Given the description of an element on the screen output the (x, y) to click on. 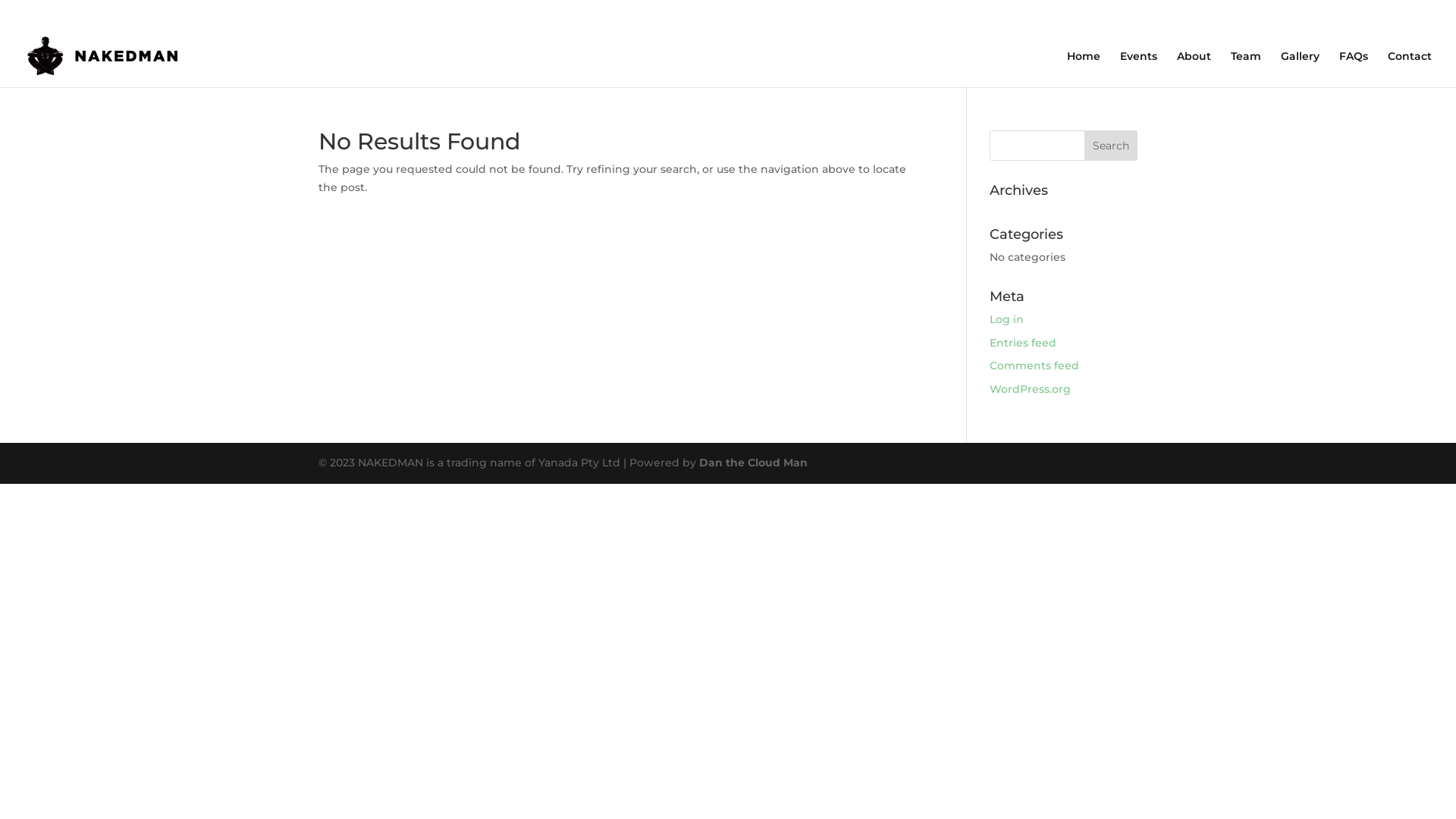
Dan the Cloud Man Element type: text (753, 462)
Contact Element type: text (1409, 68)
Gallery Element type: text (1299, 68)
About Element type: text (1193, 68)
Home Element type: text (1083, 68)
0 Items Element type: text (1406, 11)
Comments feed Element type: text (1034, 365)
Log in Element type: text (1006, 319)
Search Element type: text (1110, 145)
FAQs Element type: text (1353, 68)
Team Element type: text (1245, 68)
Events Element type: text (1138, 68)
Entries feed Element type: text (1022, 342)
WordPress.org Element type: text (1029, 388)
